Given the description of an element on the screen output the (x, y) to click on. 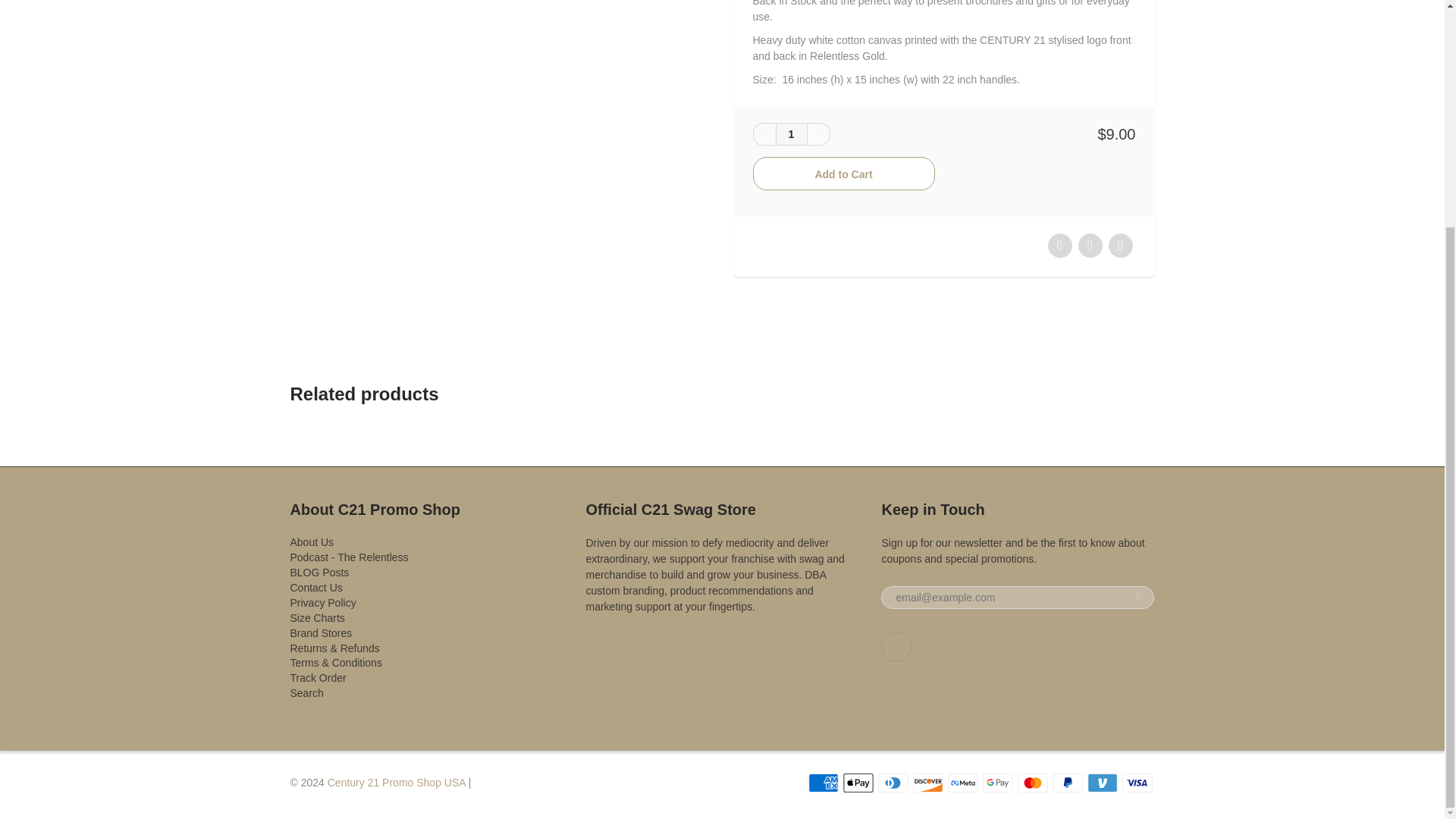
Mastercard (1032, 782)
Meta Pay (962, 782)
Google Pay (997, 782)
Discover (927, 782)
Facebook (895, 646)
1 (790, 133)
Venmo (1102, 782)
PayPal (1067, 782)
Apple Pay (858, 782)
American Express (823, 782)
